Given the description of an element on the screen output the (x, y) to click on. 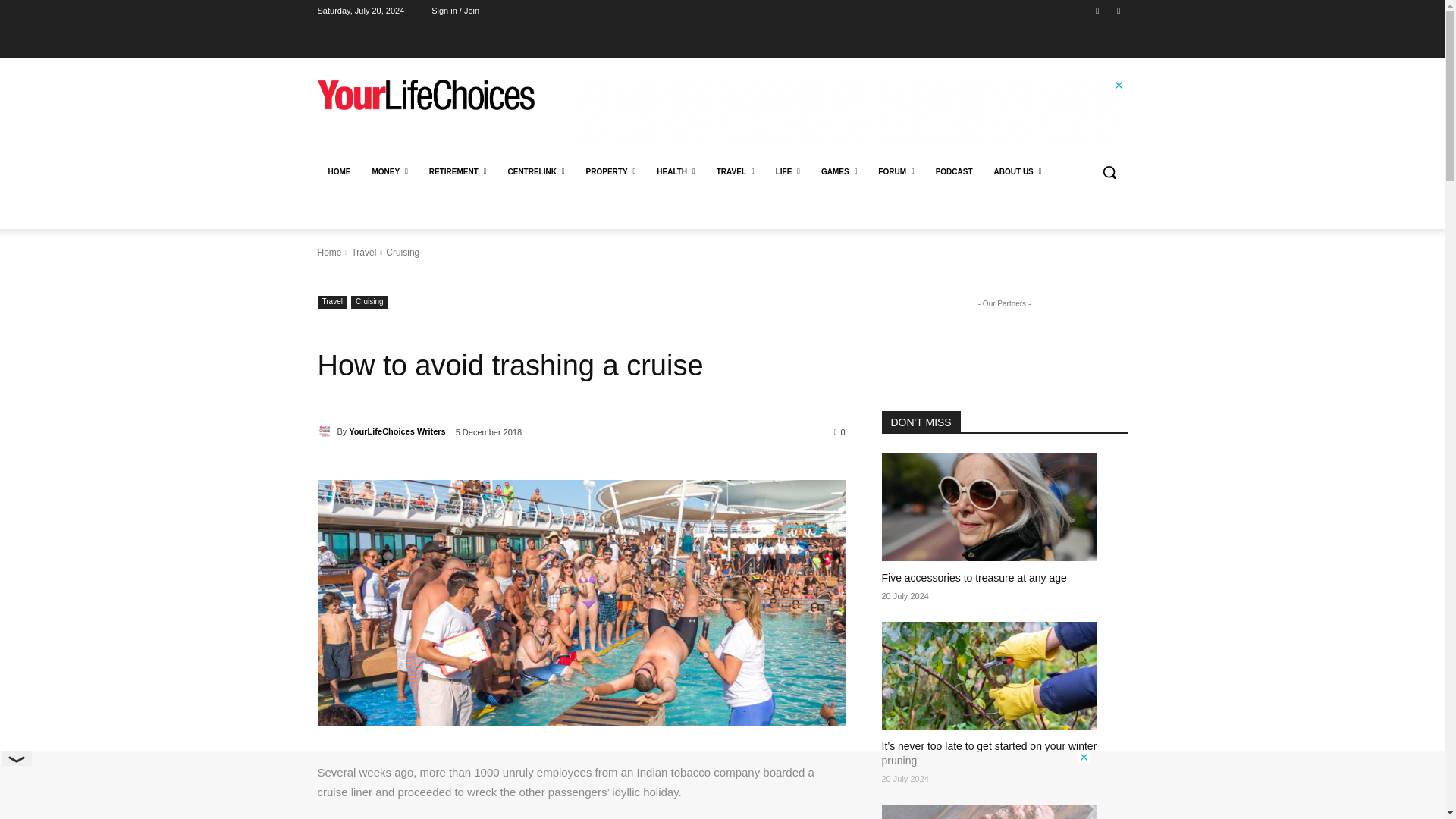
View all posts in Cruising (402, 252)
Facebook (1097, 9)
3rd party ad content (849, 112)
YourLifeChoices Writers (326, 431)
How to avoid trashing a cruise (580, 602)
View all posts in Travel (362, 252)
Twitter (1117, 9)
